Given the description of an element on the screen output the (x, y) to click on. 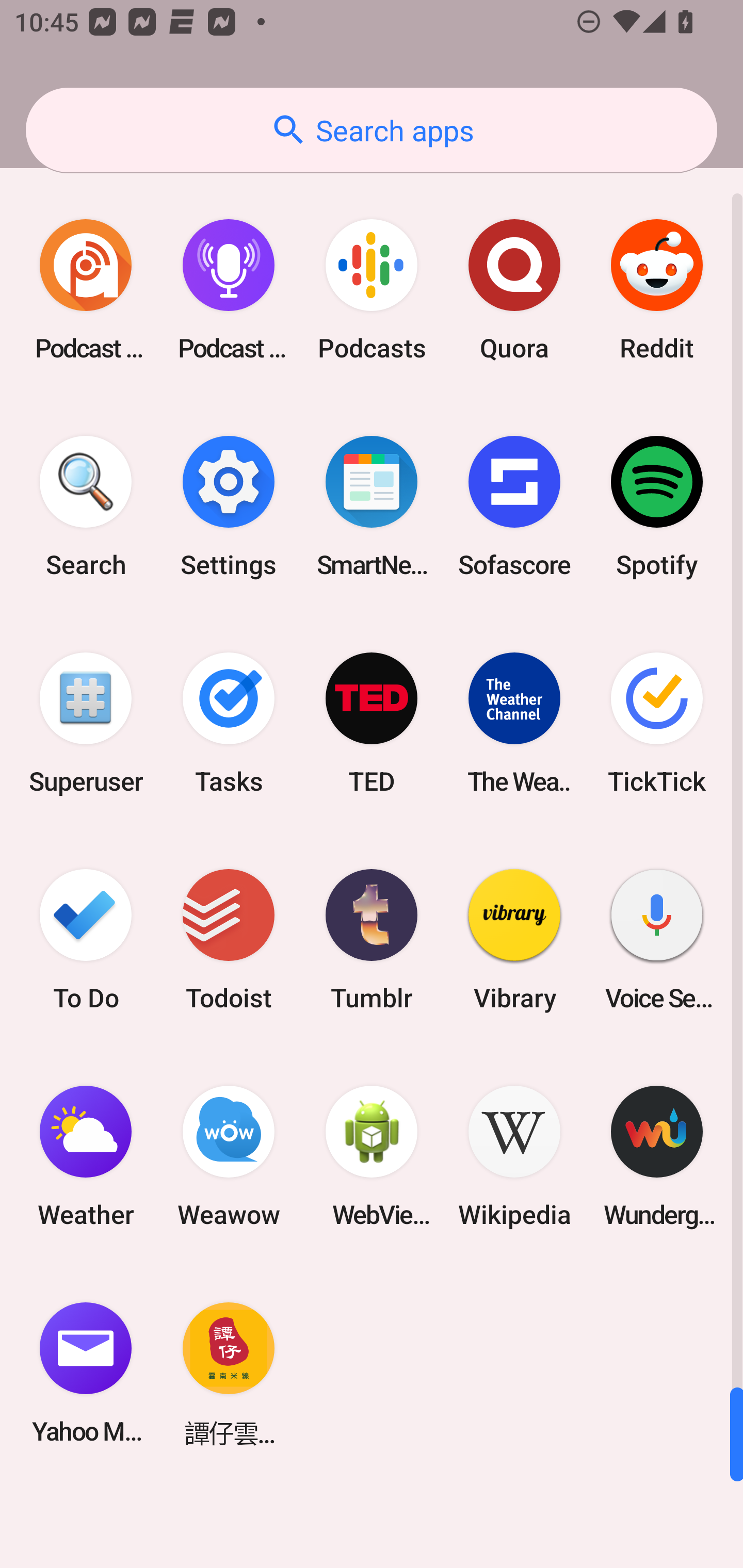
  Search apps (371, 130)
Podcast Addict (85, 289)
Podcast Player (228, 289)
Podcasts (371, 289)
Quora (514, 289)
Reddit (656, 289)
Search (85, 506)
Settings (228, 506)
SmartNews (371, 506)
Sofascore (514, 506)
Spotify (656, 506)
Superuser (85, 722)
Tasks (228, 722)
TED (371, 722)
The Weather Channel (514, 722)
TickTick (656, 722)
To Do (85, 939)
Todoist (228, 939)
Tumblr (371, 939)
Vibrary (514, 939)
Voice Search (656, 939)
Weather (85, 1156)
Weawow (228, 1156)
WebView Browser Tester (371, 1156)
Wikipedia (514, 1156)
Wunderground (656, 1156)
Yahoo Mail (85, 1373)
譚仔雲南米線 (228, 1373)
